Given the description of an element on the screen output the (x, y) to click on. 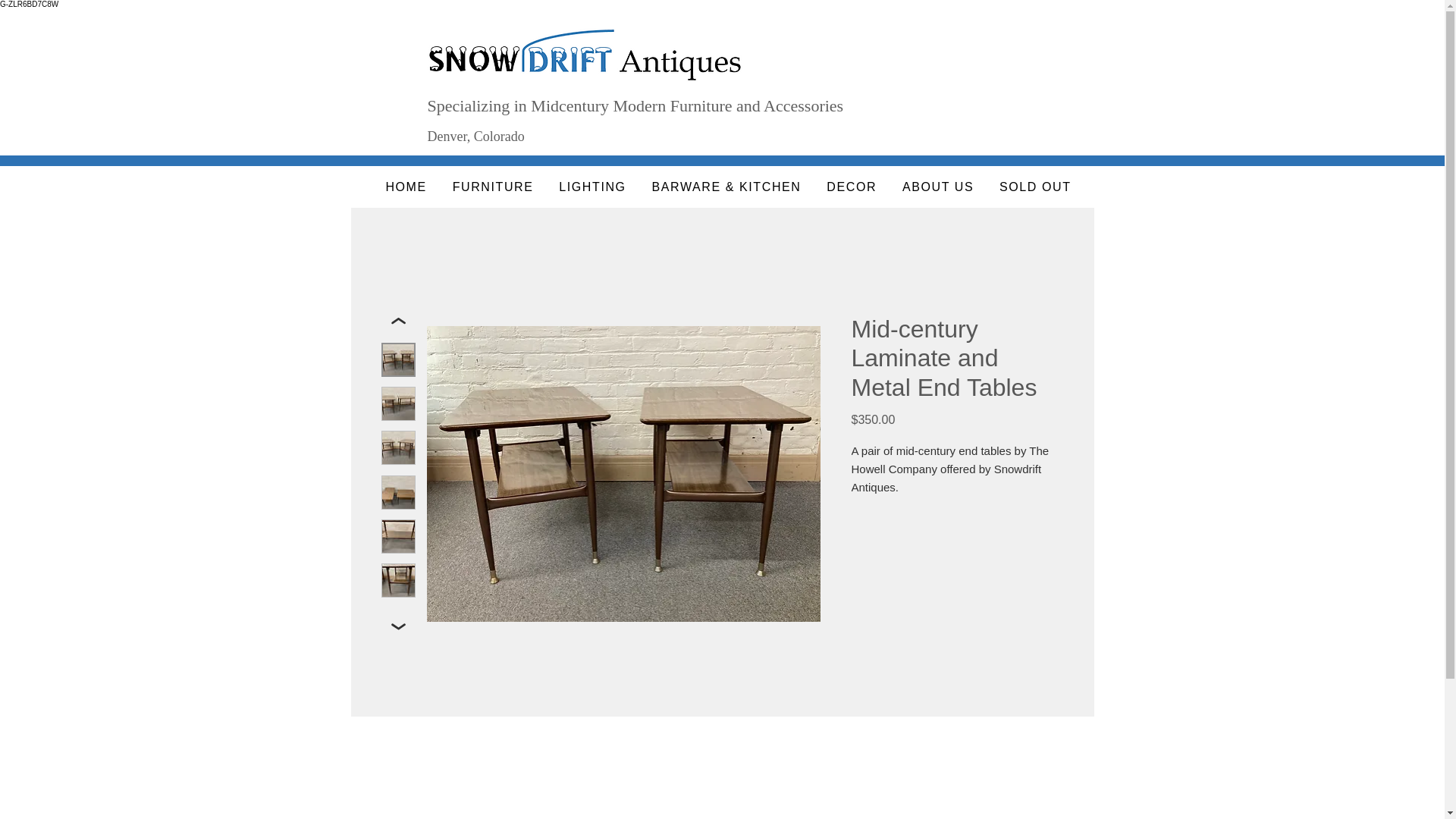
HOME (405, 187)
SOLD OUT (1035, 187)
ABOUT US (938, 187)
LIGHTING (591, 187)
FURNITURE (492, 187)
DECOR (851, 187)
